Given the description of an element on the screen output the (x, y) to click on. 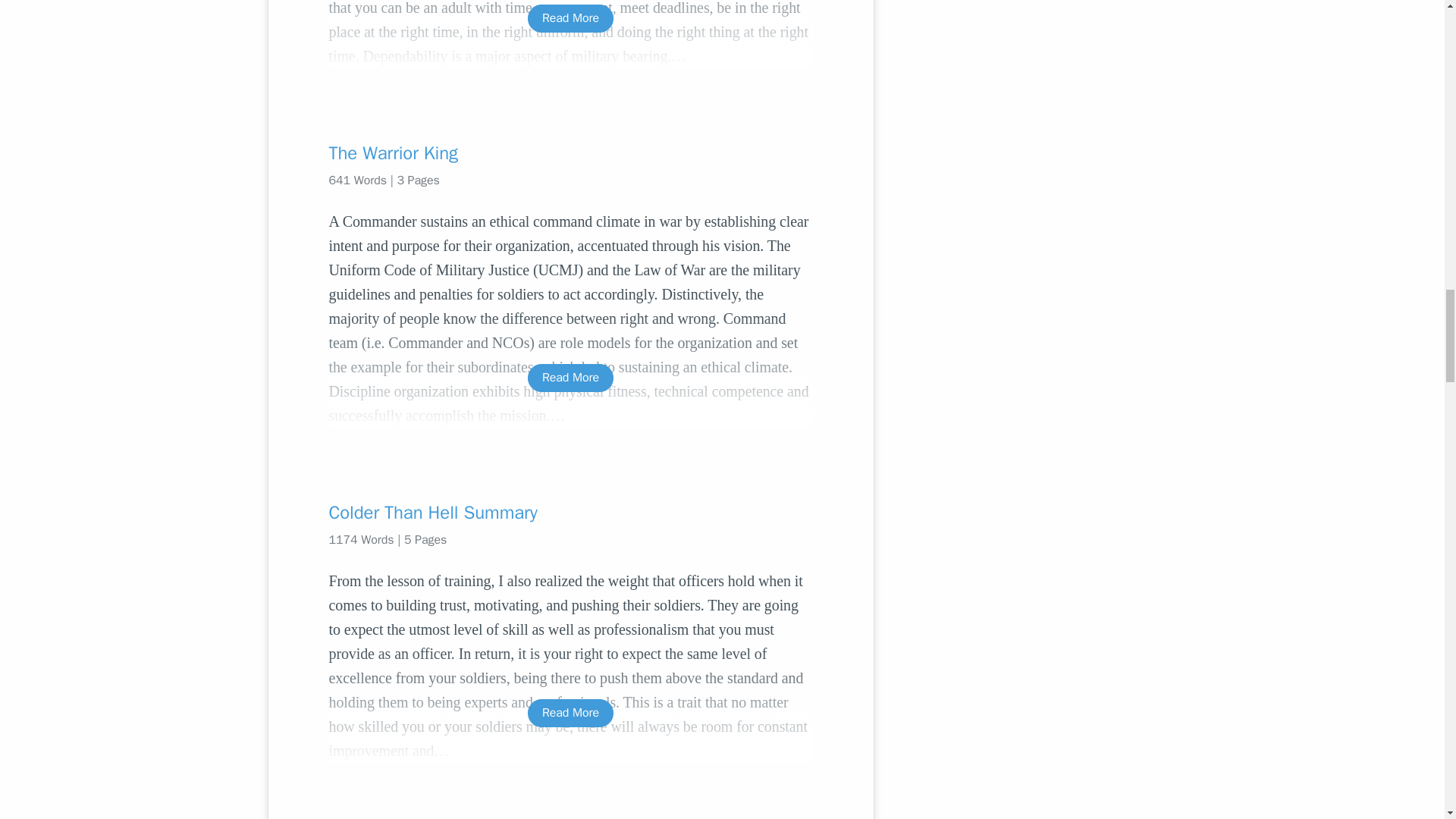
The Warrior King (570, 152)
Read More (569, 18)
Read More (569, 377)
Read More (569, 713)
Colder Than Hell Summary (570, 512)
